Given the description of an element on the screen output the (x, y) to click on. 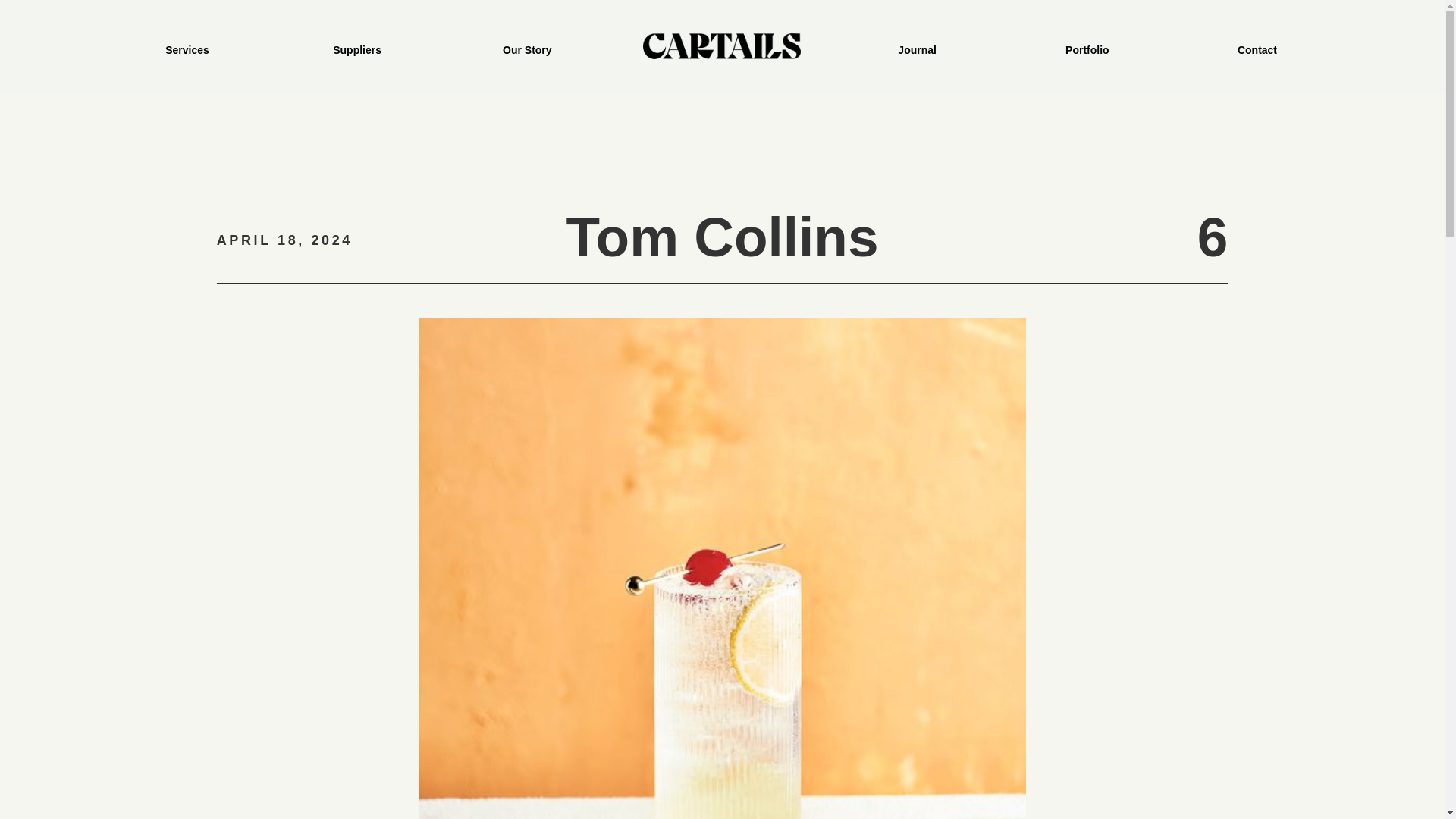
Journal (916, 46)
Our Story (526, 46)
Contact (1256, 46)
Services (186, 46)
Portfolio (1087, 46)
Suppliers (356, 46)
